Given the description of an element on the screen output the (x, y) to click on. 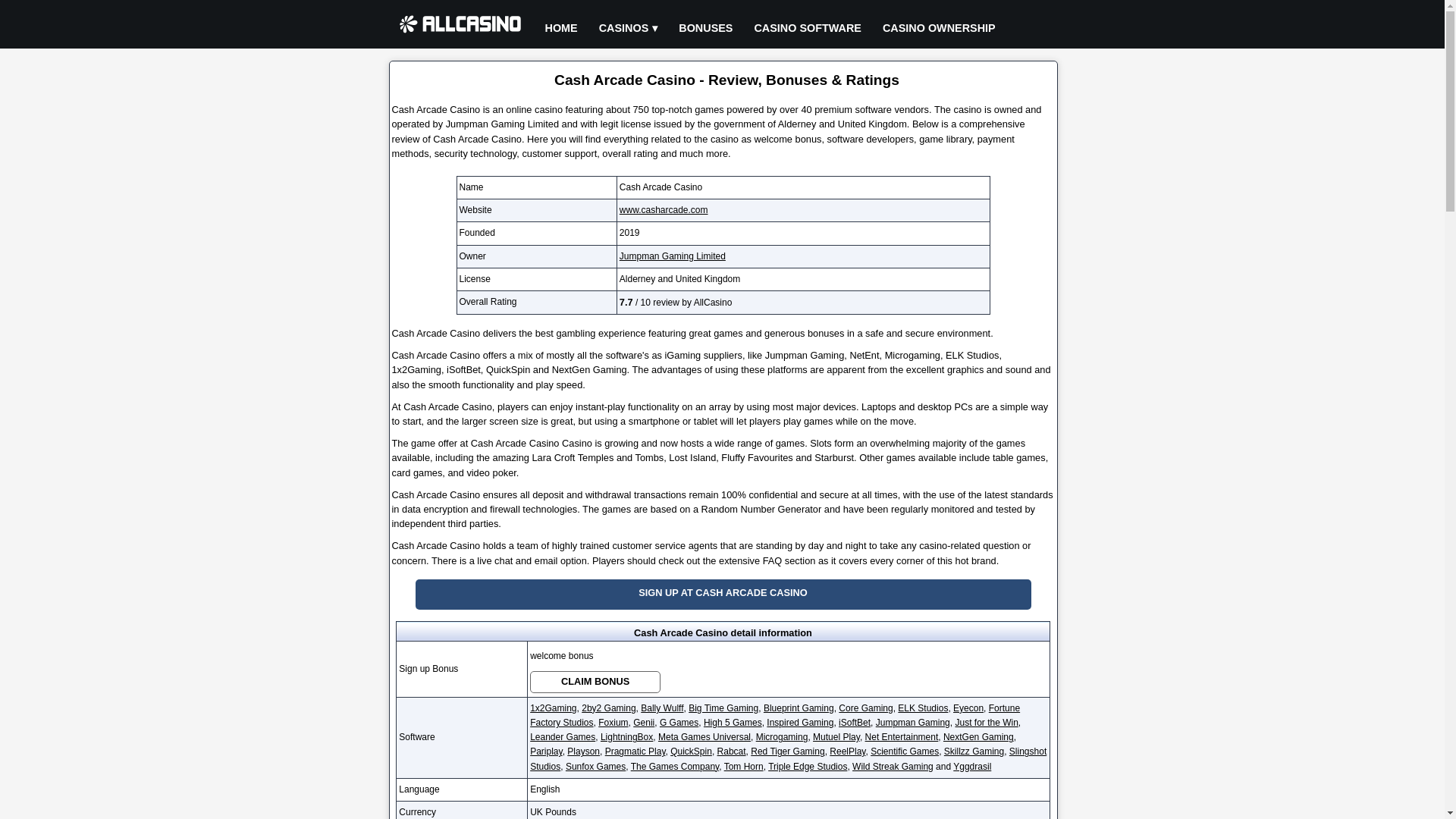
High 5 Games (732, 722)
Mutuel Play (836, 737)
Leander Games (562, 737)
G Games (678, 722)
iSoftBet (854, 722)
Playson (583, 751)
Bally Wulff (661, 707)
SIGN UP AT CASH ARCADE CASINO (722, 594)
CASINO SOFTWARE (807, 28)
HOME (561, 28)
